Given the description of an element on the screen output the (x, y) to click on. 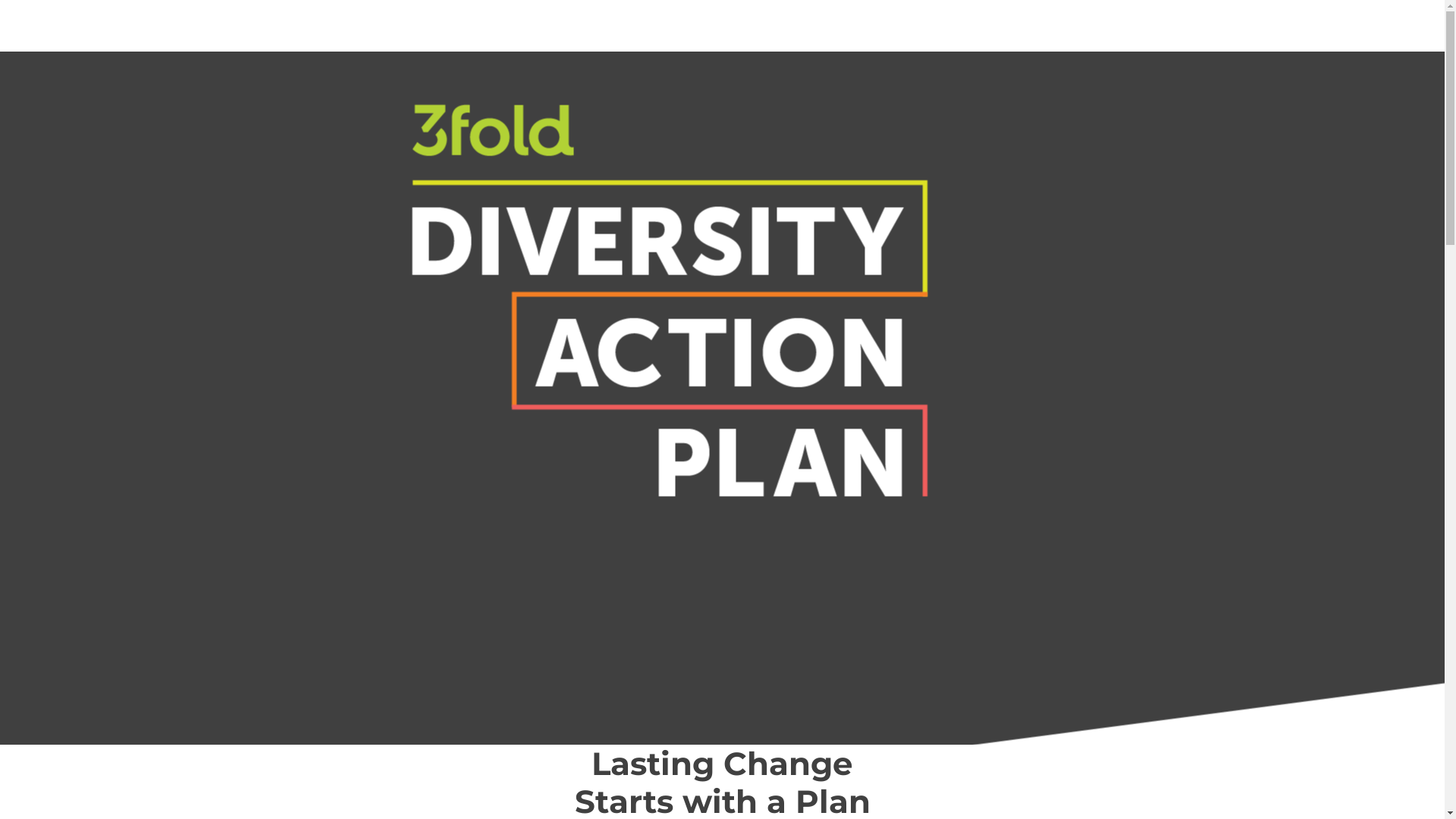
3FOLD COMMUNICATIONS - DIVERSITY ACTION PLAN Element type: text (232, 44)
Skip to main content Element type: text (0, 0)
